Given the description of an element on the screen output the (x, y) to click on. 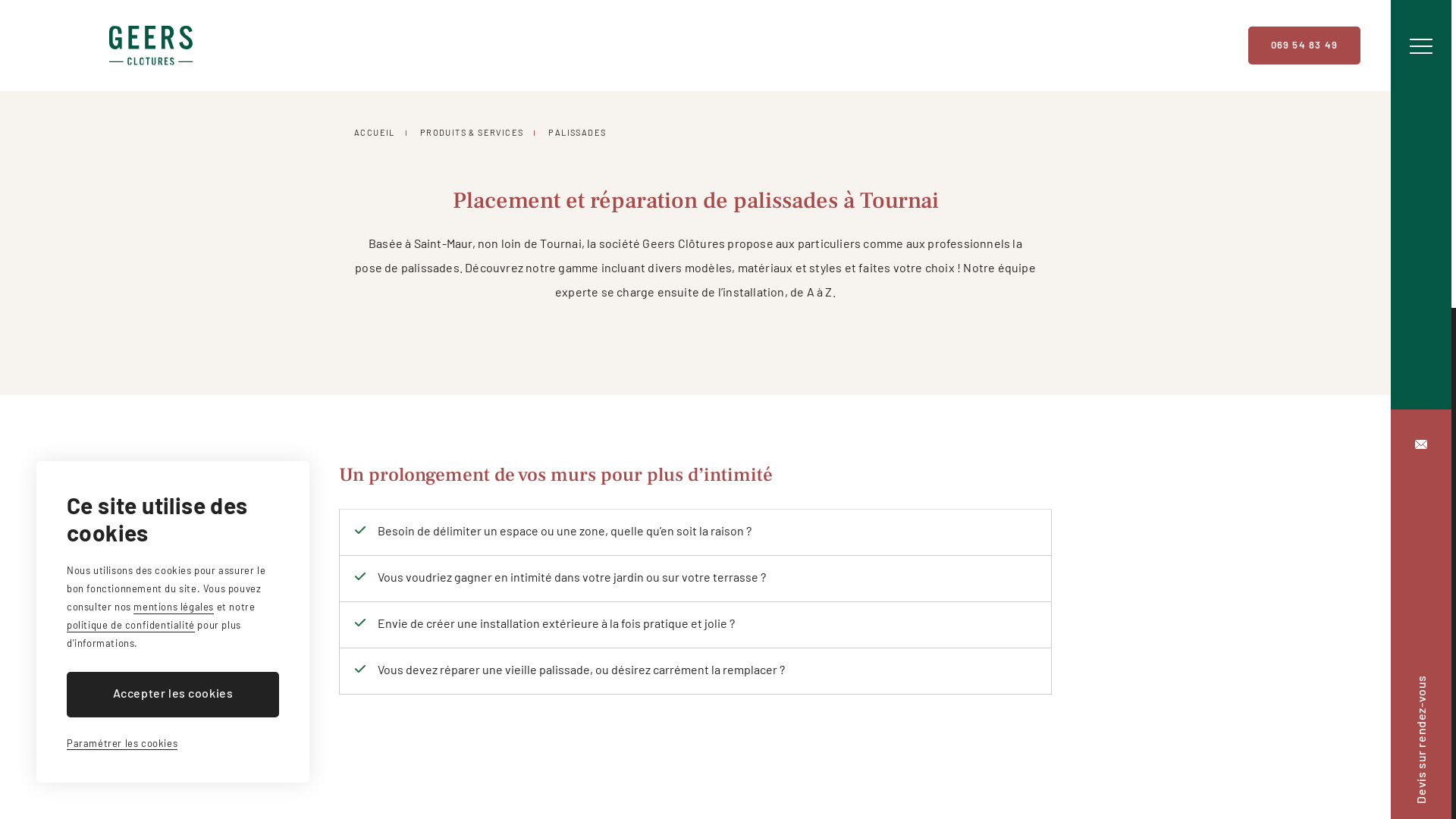
069 54 83 49 Element type: text (1304, 45)
PRODUITS & SERVICES Element type: text (472, 132)
ACCUEIL Element type: text (374, 132)
PALISSADES Element type: text (576, 132)
Geers Clotures Element type: hover (150, 45)
